Given the description of an element on the screen output the (x, y) to click on. 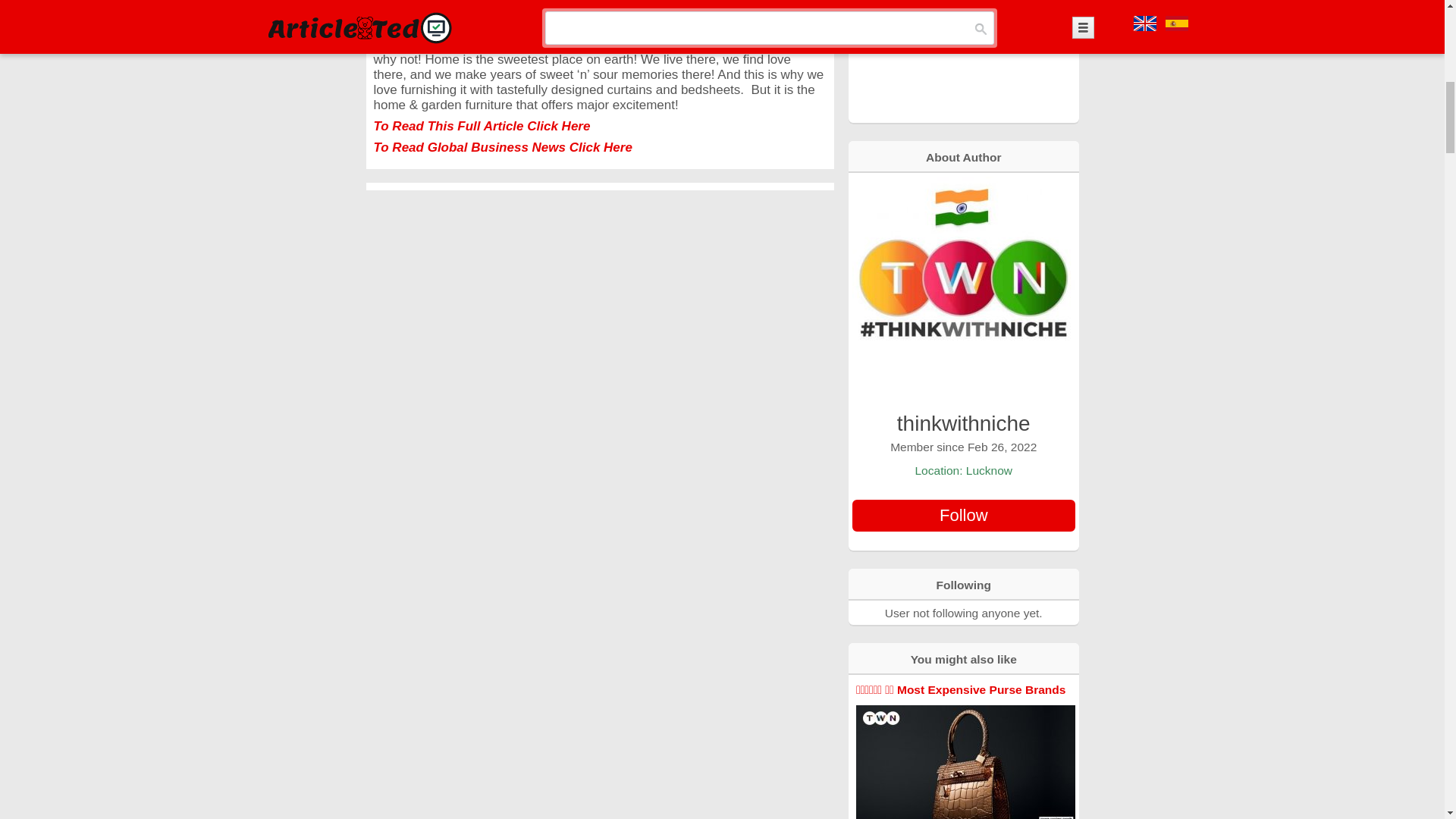
To Read This Full Article Click Here (480, 125)
Follow (963, 515)
Advertisement (963, 60)
To Read Global Business News Click Here (501, 147)
